Given the description of an element on the screen output the (x, y) to click on. 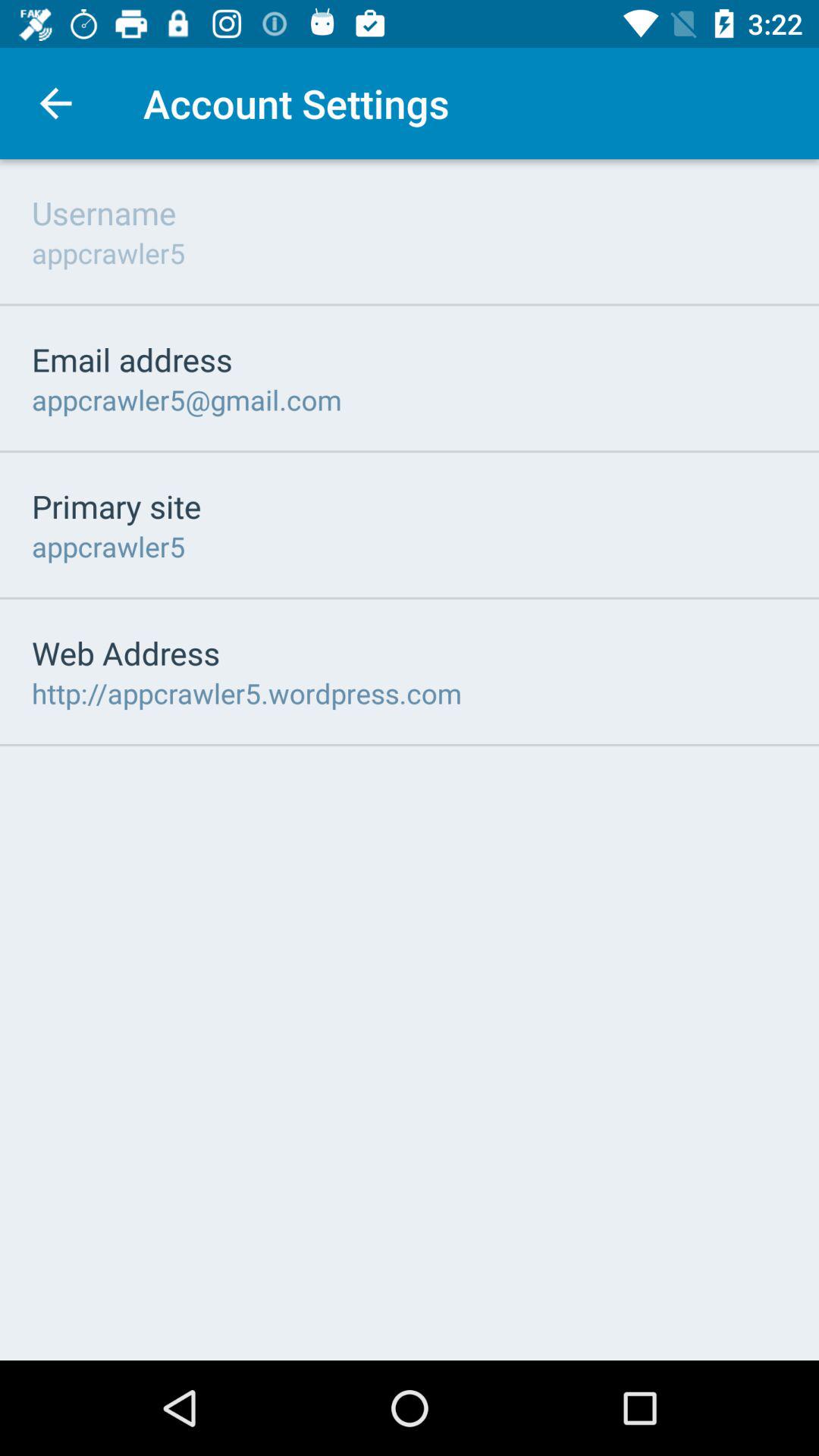
tap the item below appcrawler5 icon (125, 652)
